Given the description of an element on the screen output the (x, y) to click on. 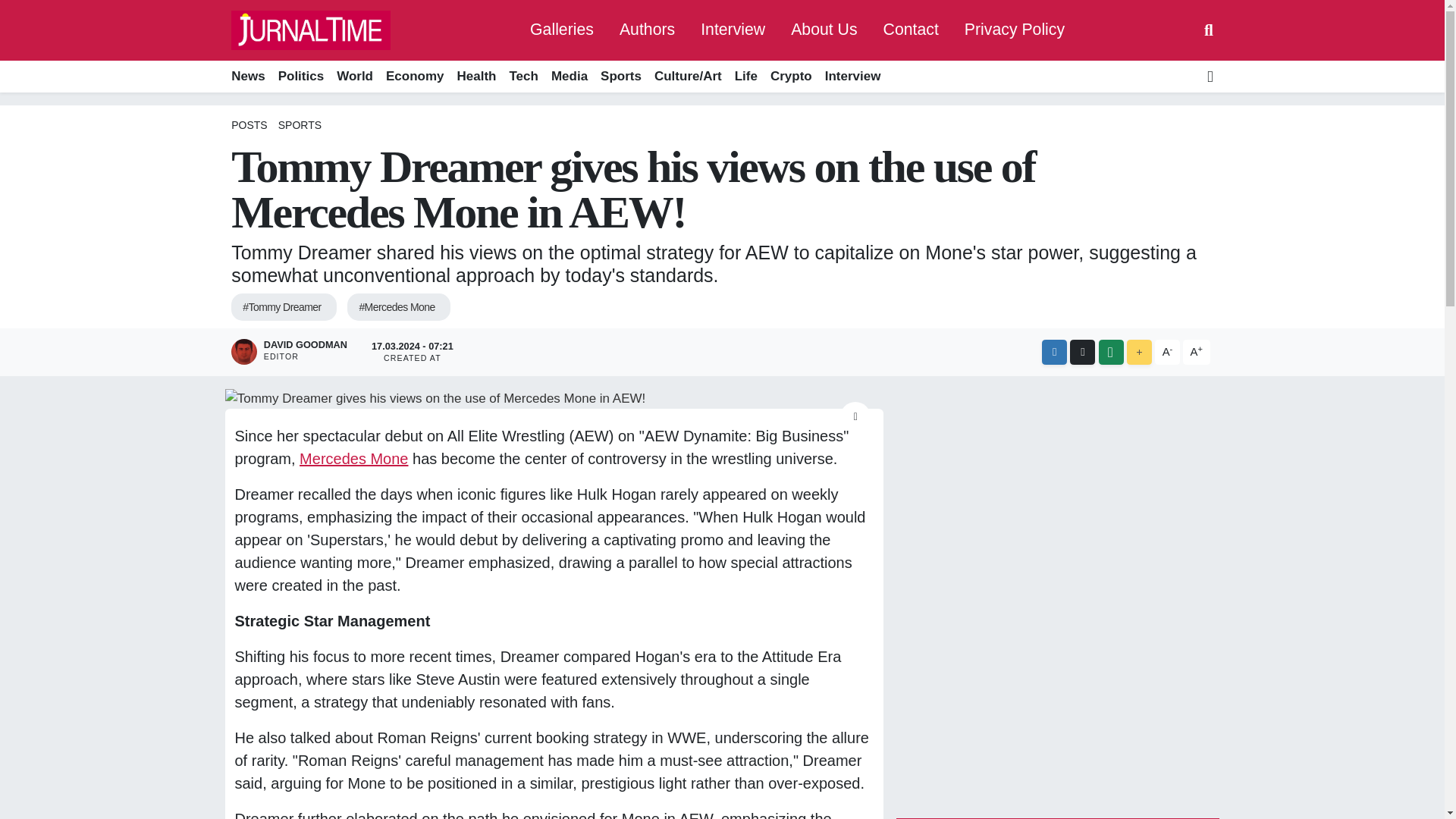
Contact (911, 29)
Galleries (561, 29)
Life (745, 76)
About Us (823, 29)
Tech (523, 76)
Interview (852, 76)
Privacy Policy (1014, 29)
News (250, 76)
Sports (620, 76)
Tech (523, 76)
Crypto (790, 76)
Interview (732, 29)
Contact (911, 29)
News (250, 76)
About Us (823, 29)
